Given the description of an element on the screen output the (x, y) to click on. 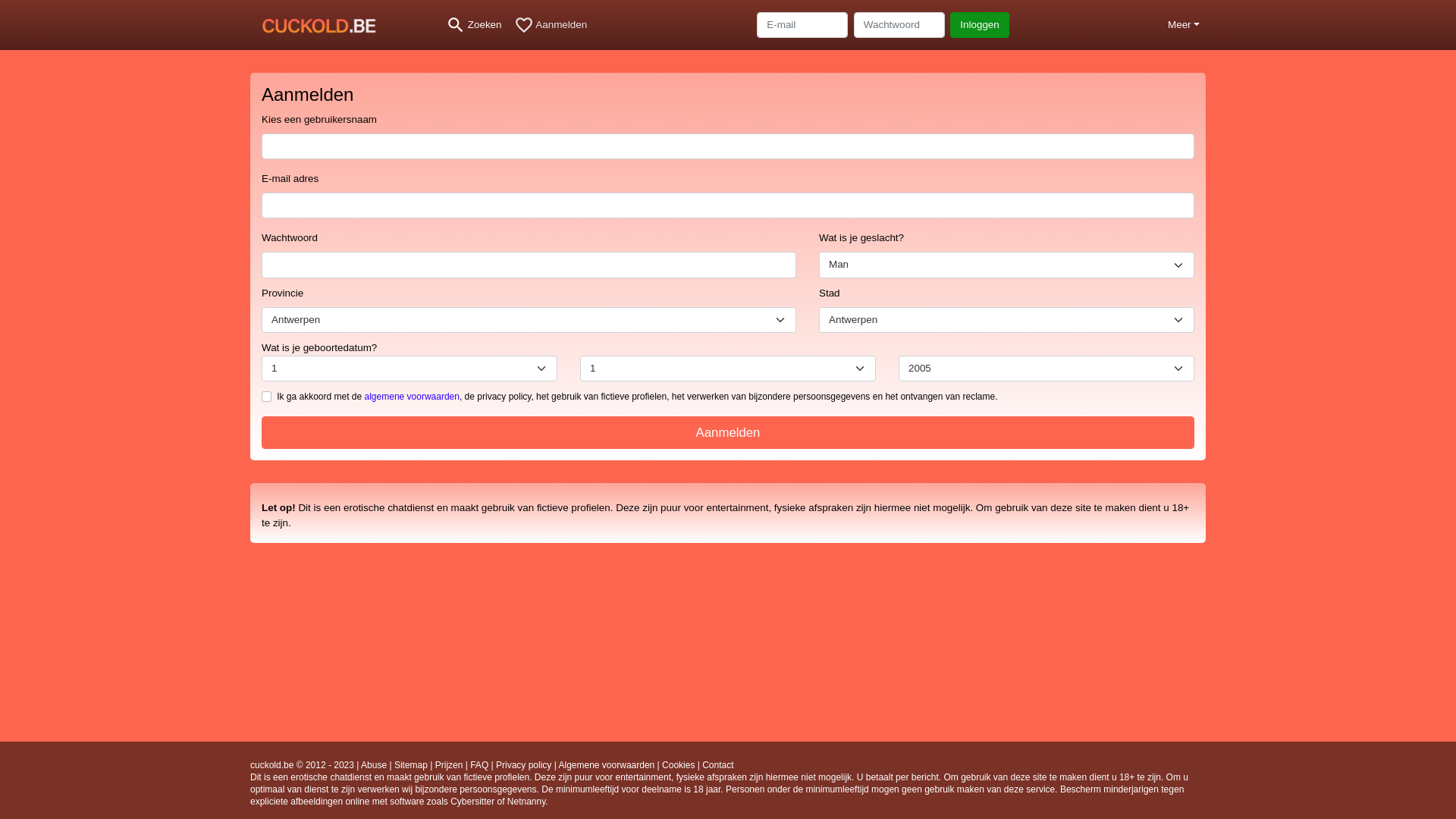
Inloggen Element type: text (979, 24)
Meer Element type: text (1183, 24)
algemene voorwaarden Element type: text (411, 396)
Cookies Element type: text (678, 764)
Algemene voorwaarden Element type: text (606, 764)
Contact Element type: text (717, 764)
favorite_border
Aanmelden Element type: text (550, 25)
Sitemap Element type: text (410, 764)
Abuse Element type: text (373, 764)
search
Zoeken Element type: text (473, 25)
Privacy policy Element type: text (523, 764)
Prijzen Element type: text (449, 764)
FAQ Element type: text (479, 764)
Aanmelden Element type: text (727, 432)
